Given the description of an element on the screen output the (x, y) to click on. 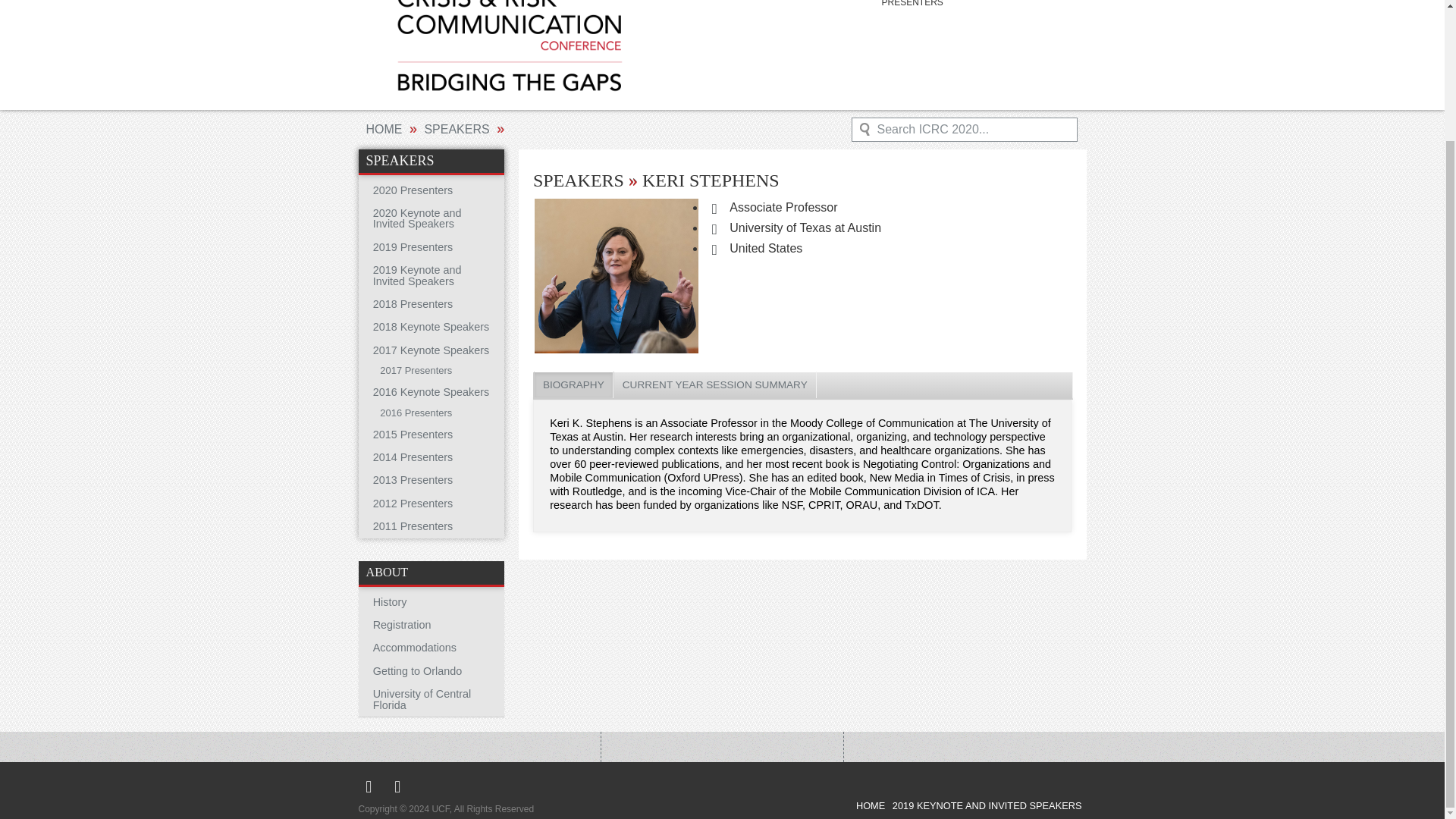
PRESENTERS (912, 5)
View All 2011 Presenters Members (430, 526)
View All 2018 Keynote Speakers Members (430, 326)
History (430, 601)
2017 Presenters (430, 370)
SPEAKERS (456, 129)
View All 2020 Presenters Members (430, 190)
2015 Presenters (430, 434)
HOME (383, 129)
View All 2015 Presenters Members (430, 434)
2018 Presenters (430, 303)
View All 2017 Presenters Members (430, 370)
View All 2012 Presenters Members (430, 503)
View All 2014 Presenters Members (430, 456)
2017 Keynote Speakers (430, 350)
